Given the description of an element on the screen output the (x, y) to click on. 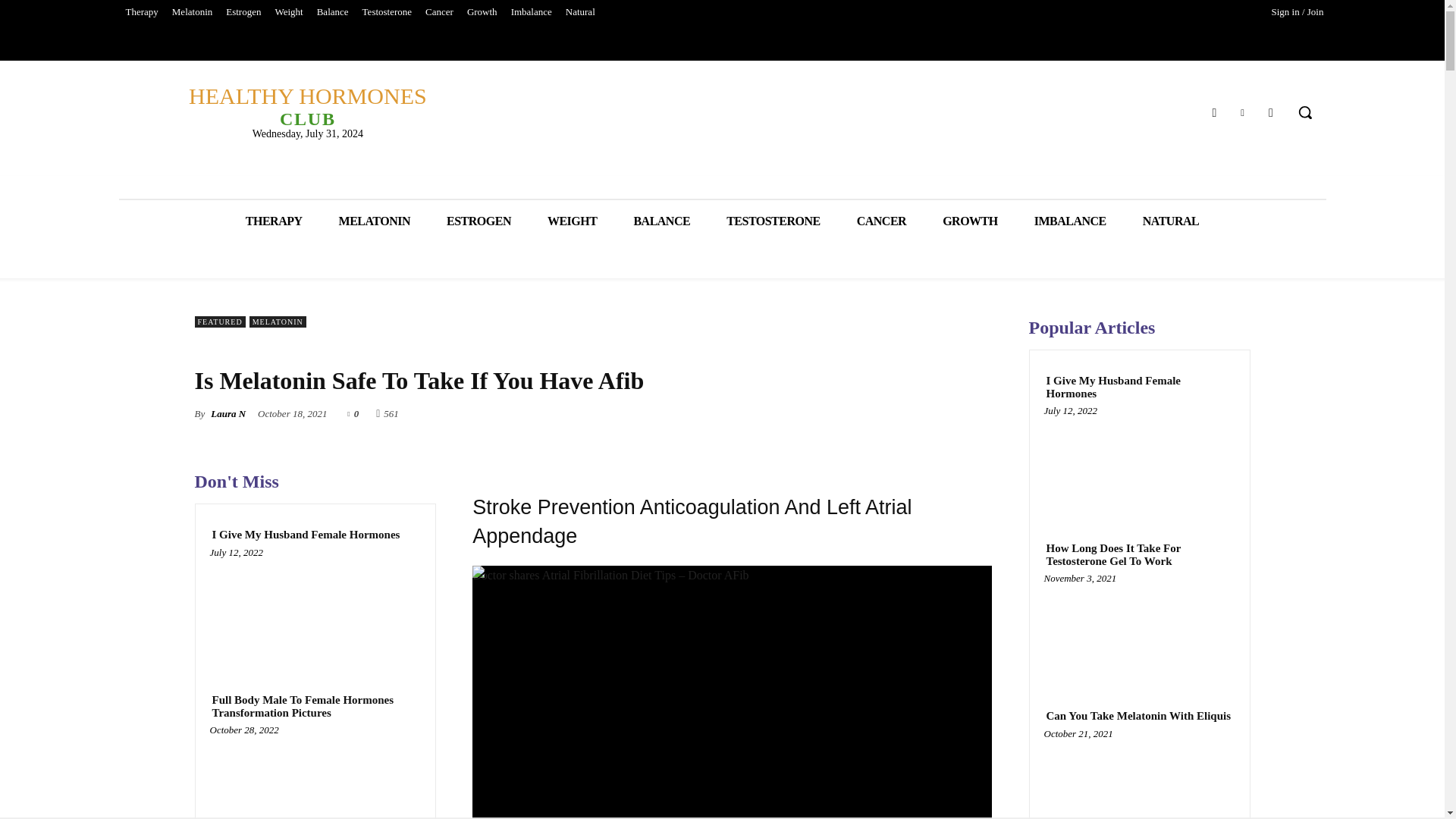
Imbalance (531, 12)
Natural (580, 12)
Therapy (140, 12)
Cancer (439, 12)
I Give My Husband Female Hormones (306, 105)
Testosterone (305, 534)
Full Body Male To Female Hormones Transformation Pictures (387, 12)
Weight (314, 776)
Estrogen (287, 12)
Facebook (243, 12)
I Give My Husband Female Hormones (1214, 111)
Melatonin (314, 608)
Twitter (192, 12)
Youtube (1241, 111)
